Given the description of an element on the screen output the (x, y) to click on. 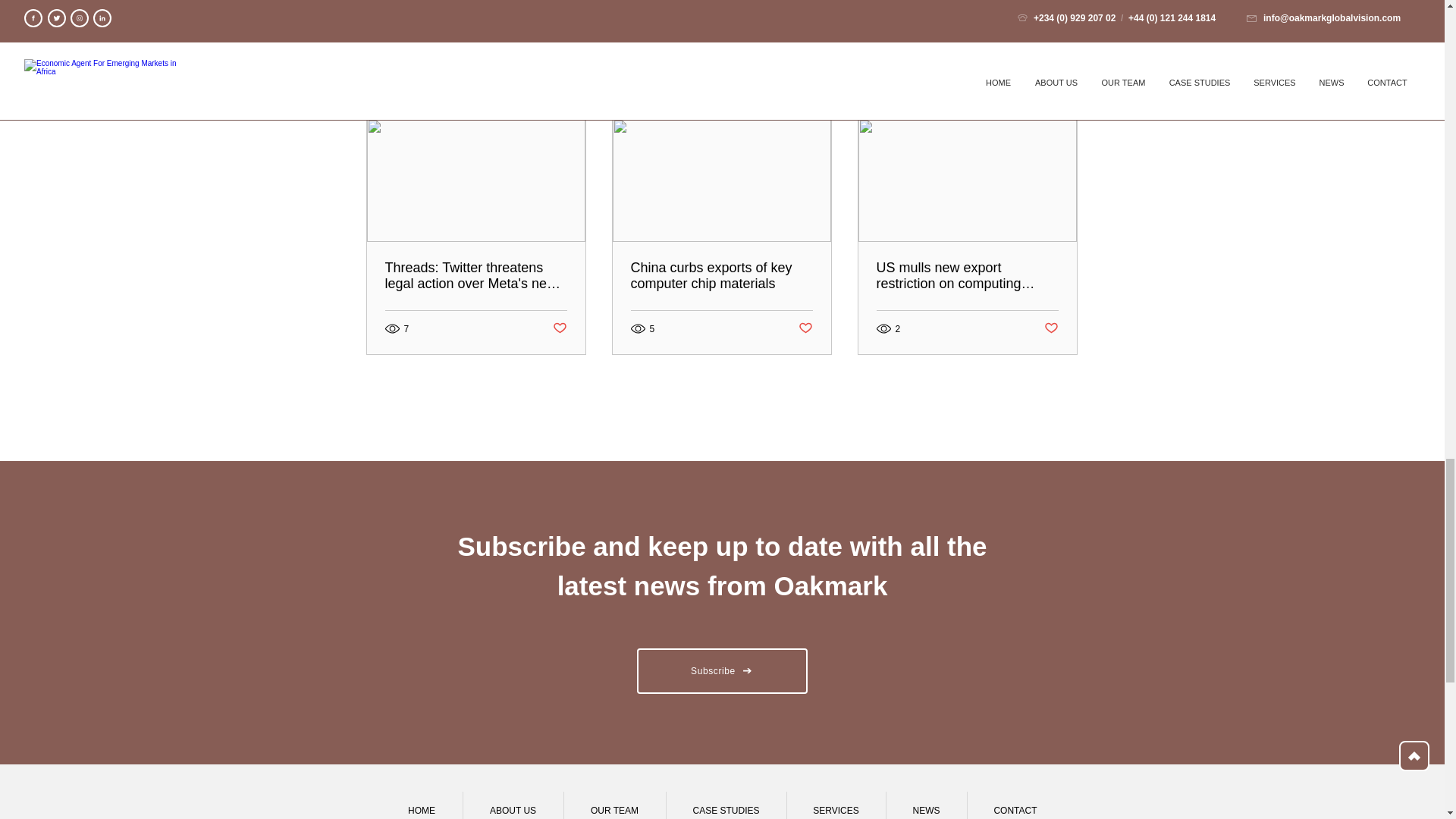
Post not marked as liked (558, 328)
See All (1061, 92)
Post not marked as liked (995, 9)
Post not marked as liked (1050, 328)
Post not marked as liked (804, 328)
China curbs exports of key computer chip materials (721, 275)
Threads: Twitter threatens legal action over Meta's new app (476, 275)
Subscribe (722, 670)
